Given the description of an element on the screen output the (x, y) to click on. 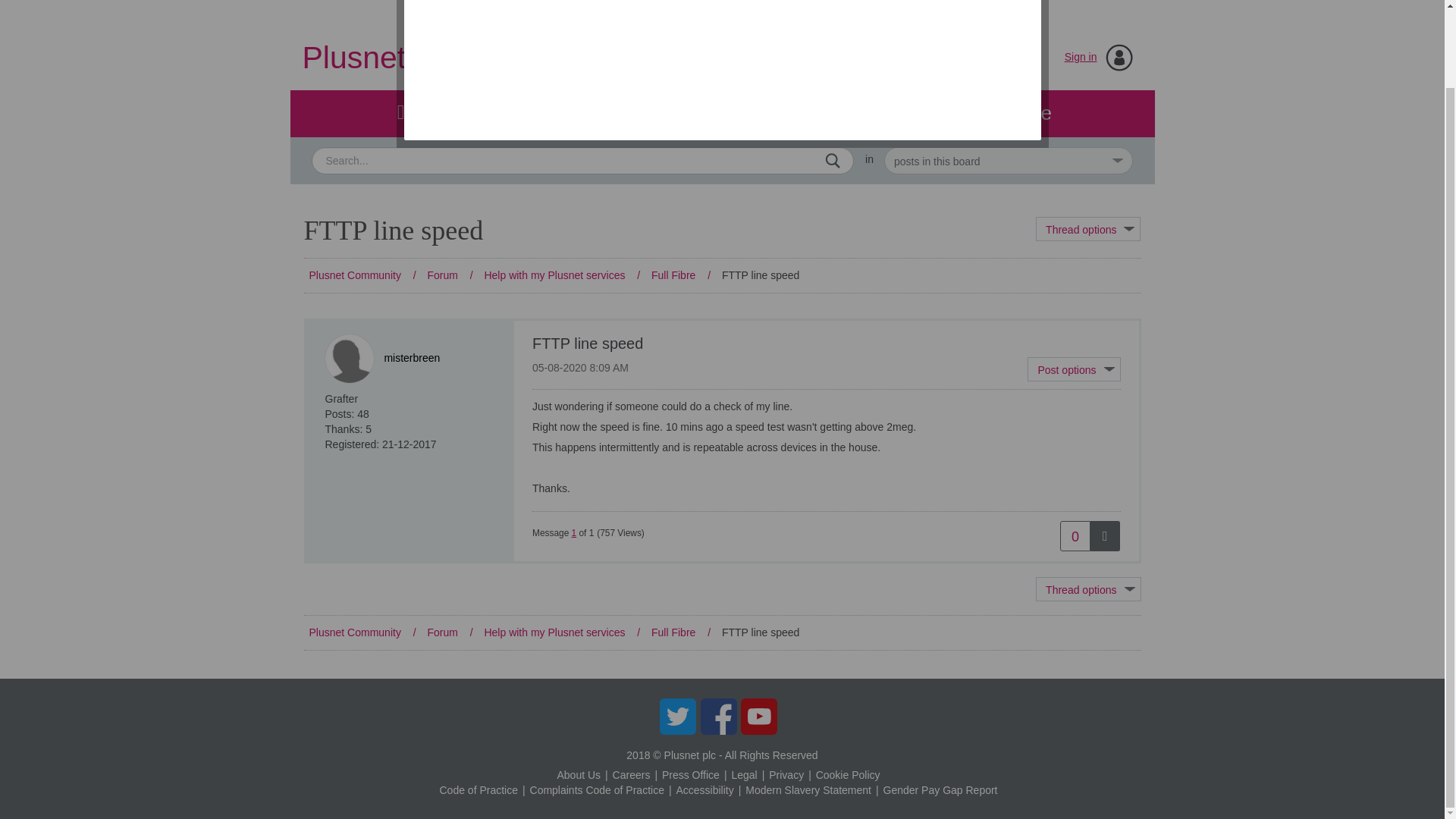
Forum (432, 113)
Set search granularity (1007, 160)
Blog (721, 113)
Show option menu (1088, 228)
Search (832, 159)
Search (832, 159)
Show option menu (1073, 368)
Search (832, 159)
Topic Options (1088, 228)
Sign in (1080, 56)
Plusnet Community (435, 57)
Search (582, 160)
Plusnet (327, 9)
Show option menu (1088, 589)
Browse (1010, 113)
